Given the description of an element on the screen output the (x, y) to click on. 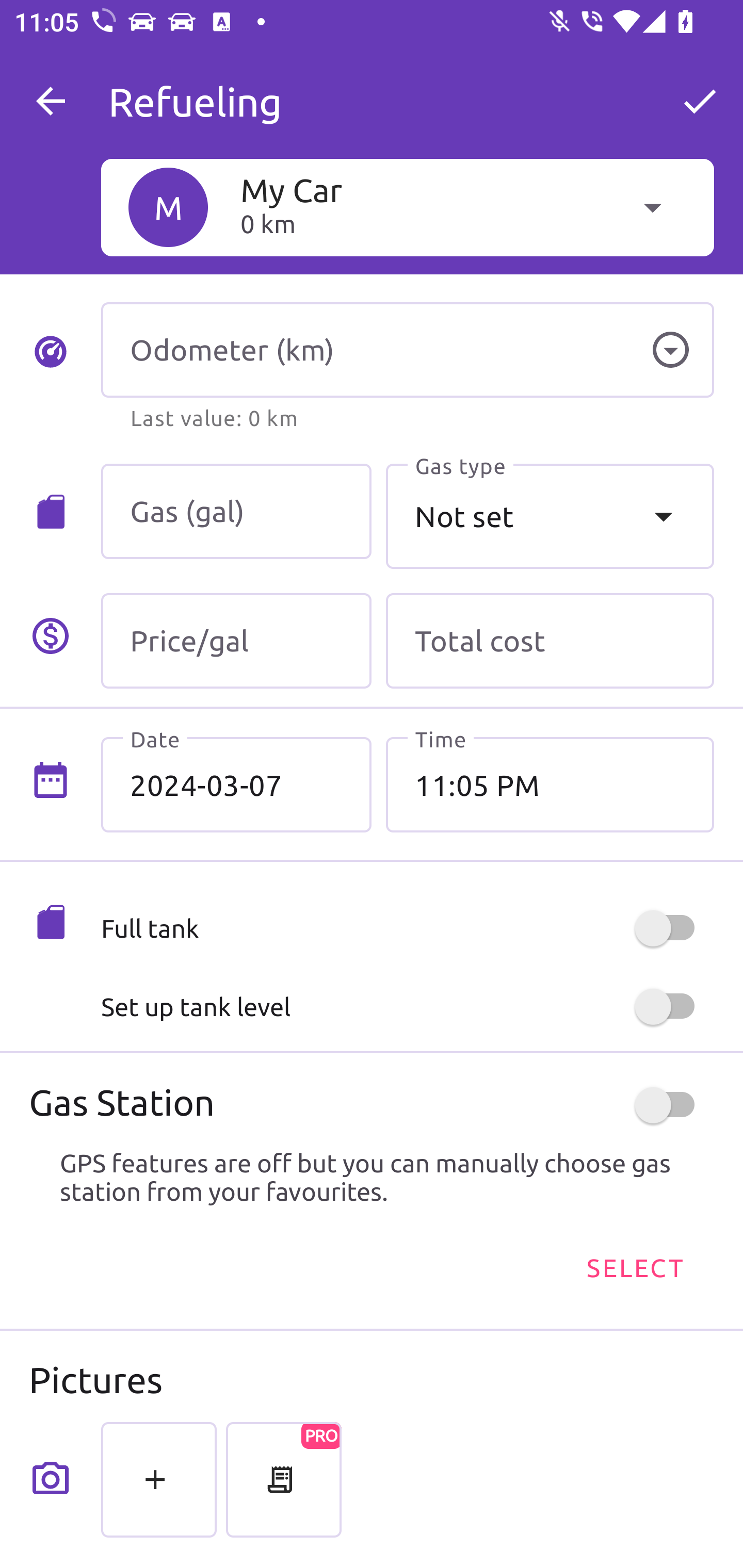
Navigate up (50, 101)
OK (699, 101)
M My Car 0 km (407, 206)
Odometer (km) (407, 350)
Odometer (670, 349)
Gas (gal) (236, 511)
Not set (549, 516)
Price/gal (236, 640)
Total cost  (549, 640)
2024-03-07 (236, 784)
11:05 PM (549, 784)
Full tank (407, 928)
Set up tank level (407, 1006)
SELECT (634, 1267)
